Given the description of an element on the screen output the (x, y) to click on. 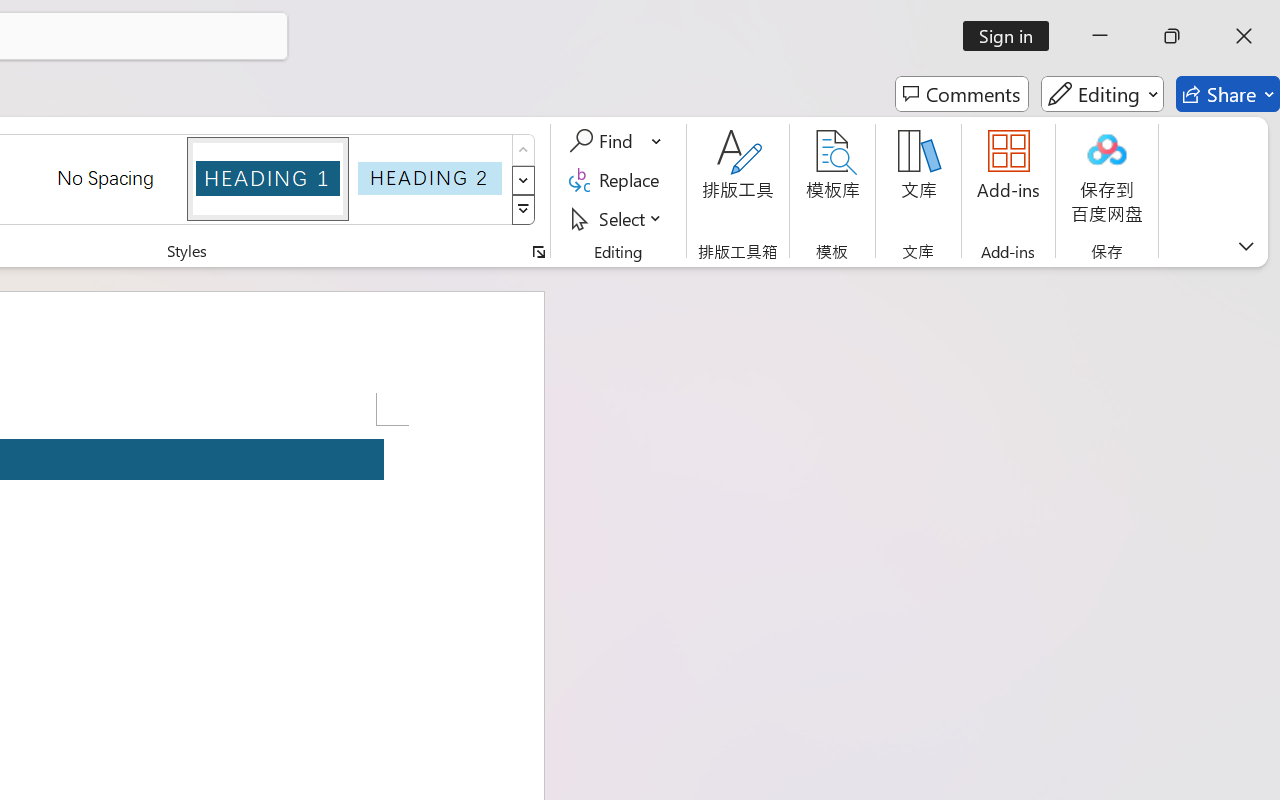
Search with your voice (309, 127)
Google - YouTube (535, 22)
Google Account (116, 22)
Install YouTube (1107, 69)
No thanks (1212, 265)
Turn on (1119, 265)
